Given the description of an element on the screen output the (x, y) to click on. 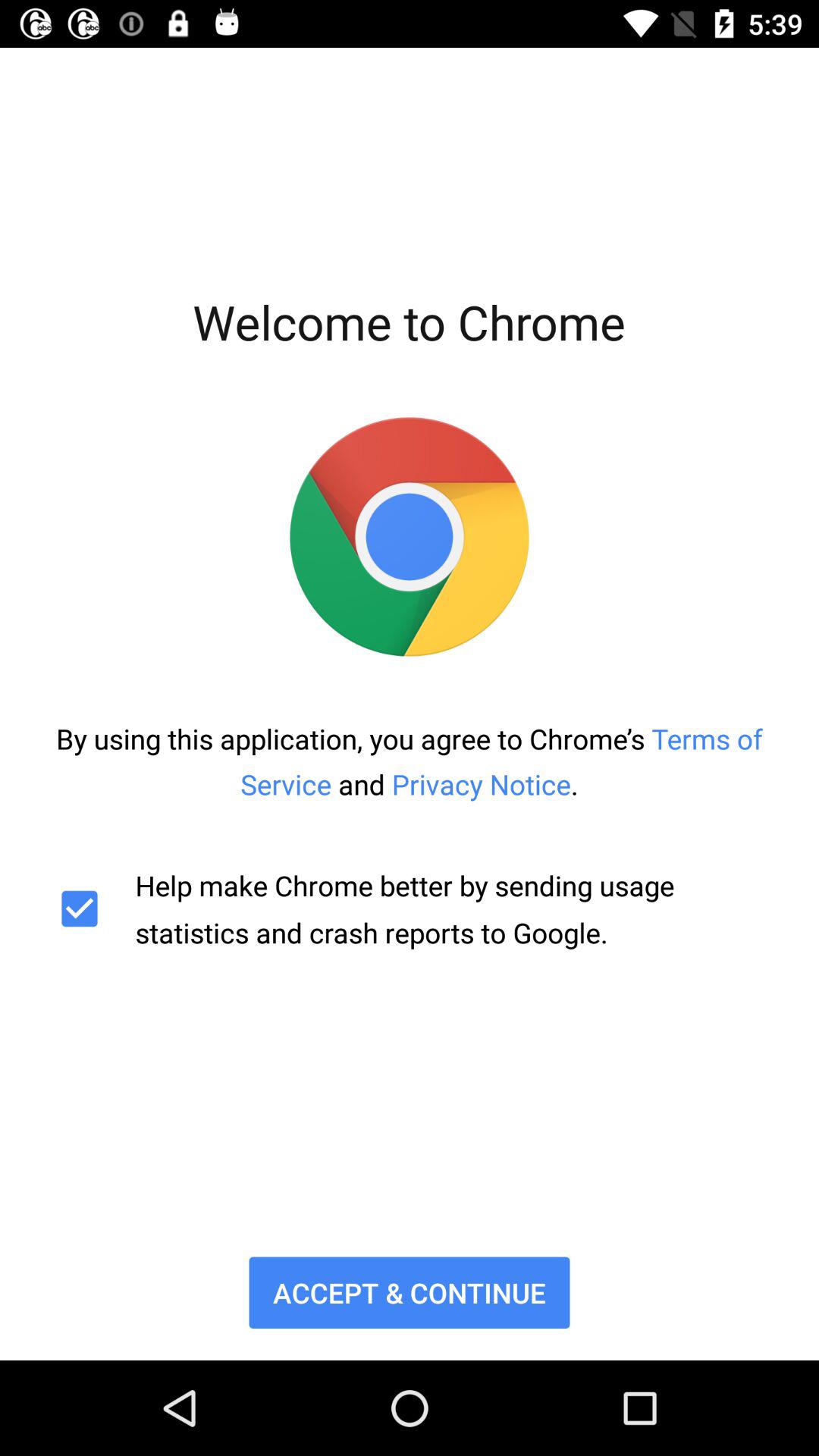
tap the accept & continue item (409, 1292)
